Given the description of an element on the screen output the (x, y) to click on. 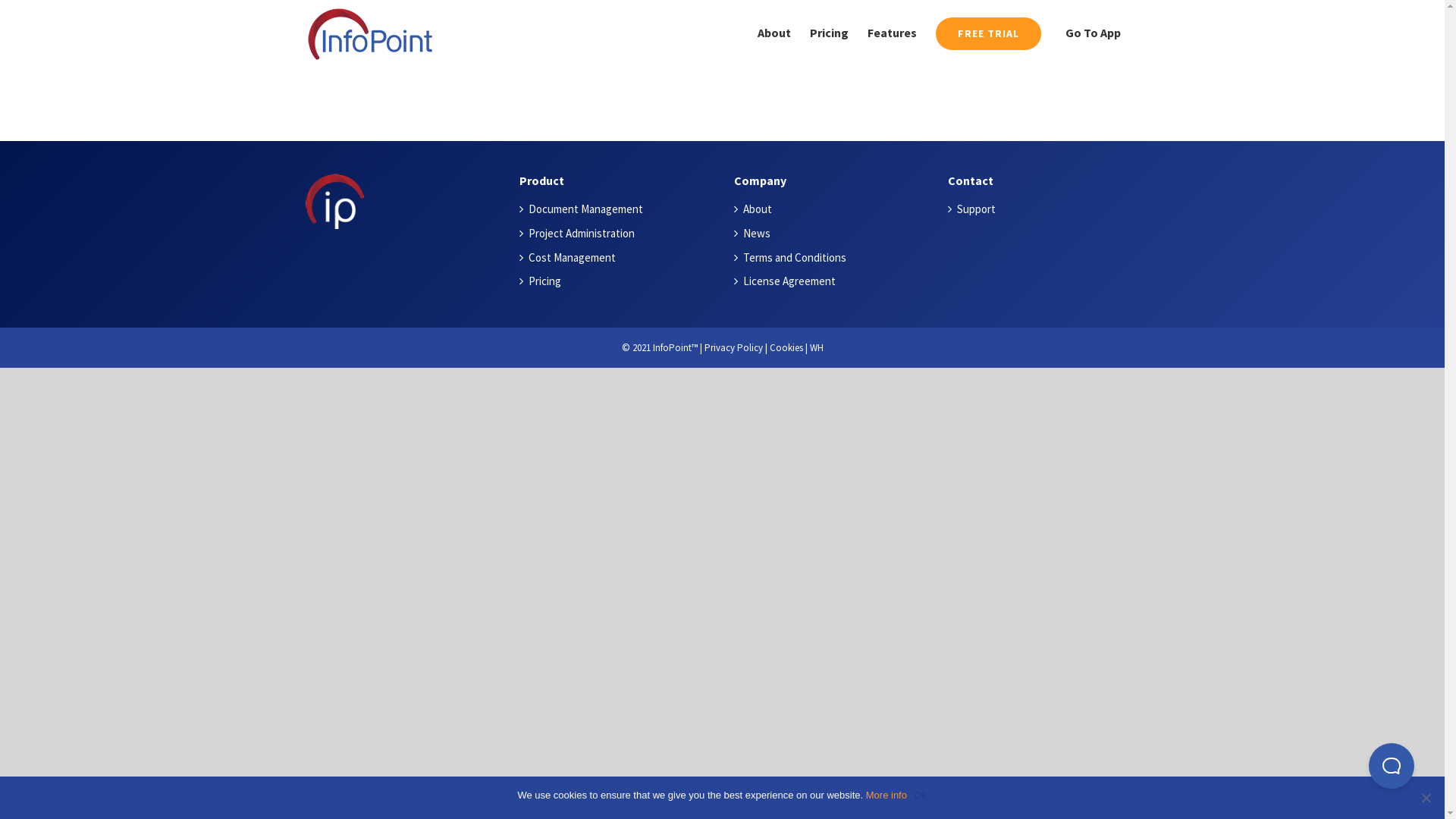
More info Element type: text (886, 794)
News Element type: text (834, 233)
Go To App Element type: text (1090, 32)
Cost Management Element type: text (619, 257)
Pricing Element type: text (619, 281)
Pricing Element type: text (828, 32)
Features Element type: text (891, 32)
Ok Element type: text (920, 794)
Cookies Element type: text (785, 347)
Support Element type: text (1048, 208)
About Element type: text (834, 208)
Document Management Element type: text (619, 208)
About Element type: text (773, 32)
WH Element type: text (816, 347)
Terms and Conditions Element type: text (834, 257)
Project Administration Element type: text (619, 233)
FREE TRIAL Element type: text (988, 32)
License Agreement Element type: text (834, 281)
consistency-icon Element type: hover (334, 201)
Privacy Policy Element type: text (732, 347)
